Given the description of an element on the screen output the (x, y) to click on. 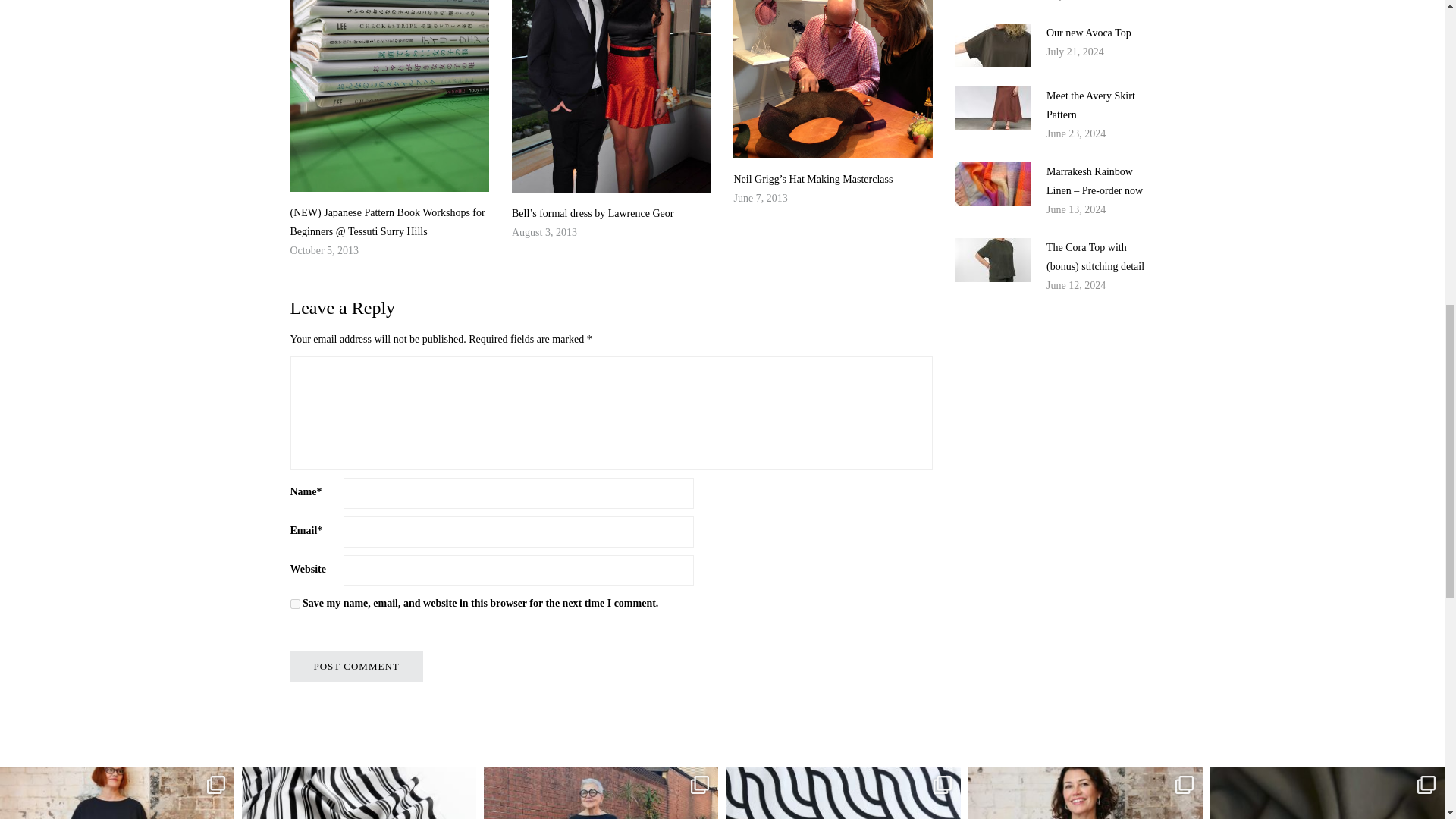
yes (294, 603)
Post comment (355, 665)
